Given the description of an element on the screen output the (x, y) to click on. 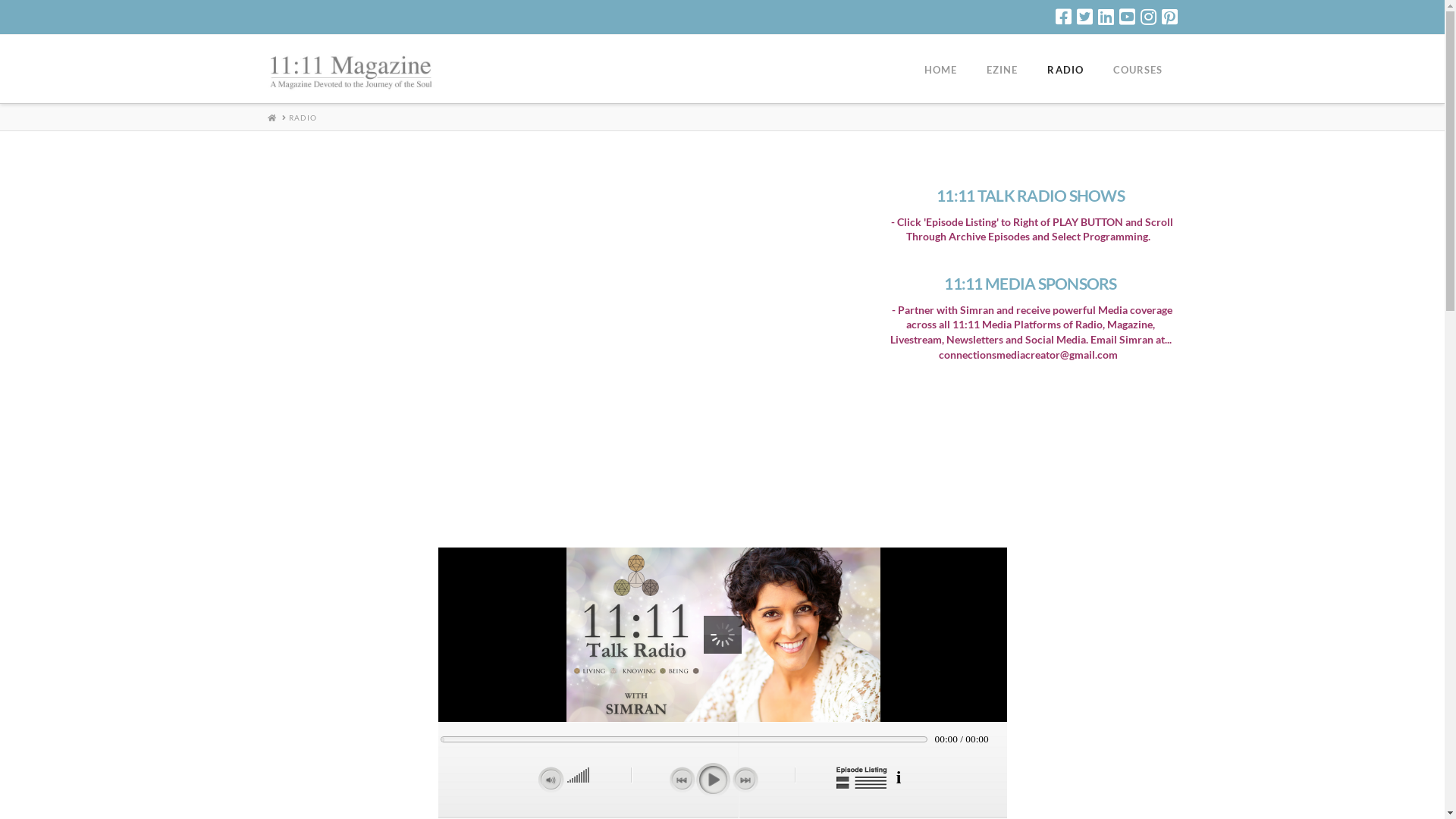
Twitter Element type: hover (1084, 16)
YouTube Element type: hover (1127, 16)
HOME Element type: text (271, 117)
LinkedIn Element type: hover (1105, 16)
Instagram Element type: hover (1148, 16)
Facebook Element type: hover (1063, 16)
HOME Element type: text (940, 68)
RADIO Element type: text (1064, 68)
Pinterest Element type: hover (1169, 16)
EZINE Element type: text (1001, 68)
RADIO Element type: text (302, 117)
COURSES Element type: text (1137, 68)
YouTube video player Element type: hover (567, 353)
